Given the description of an element on the screen output the (x, y) to click on. 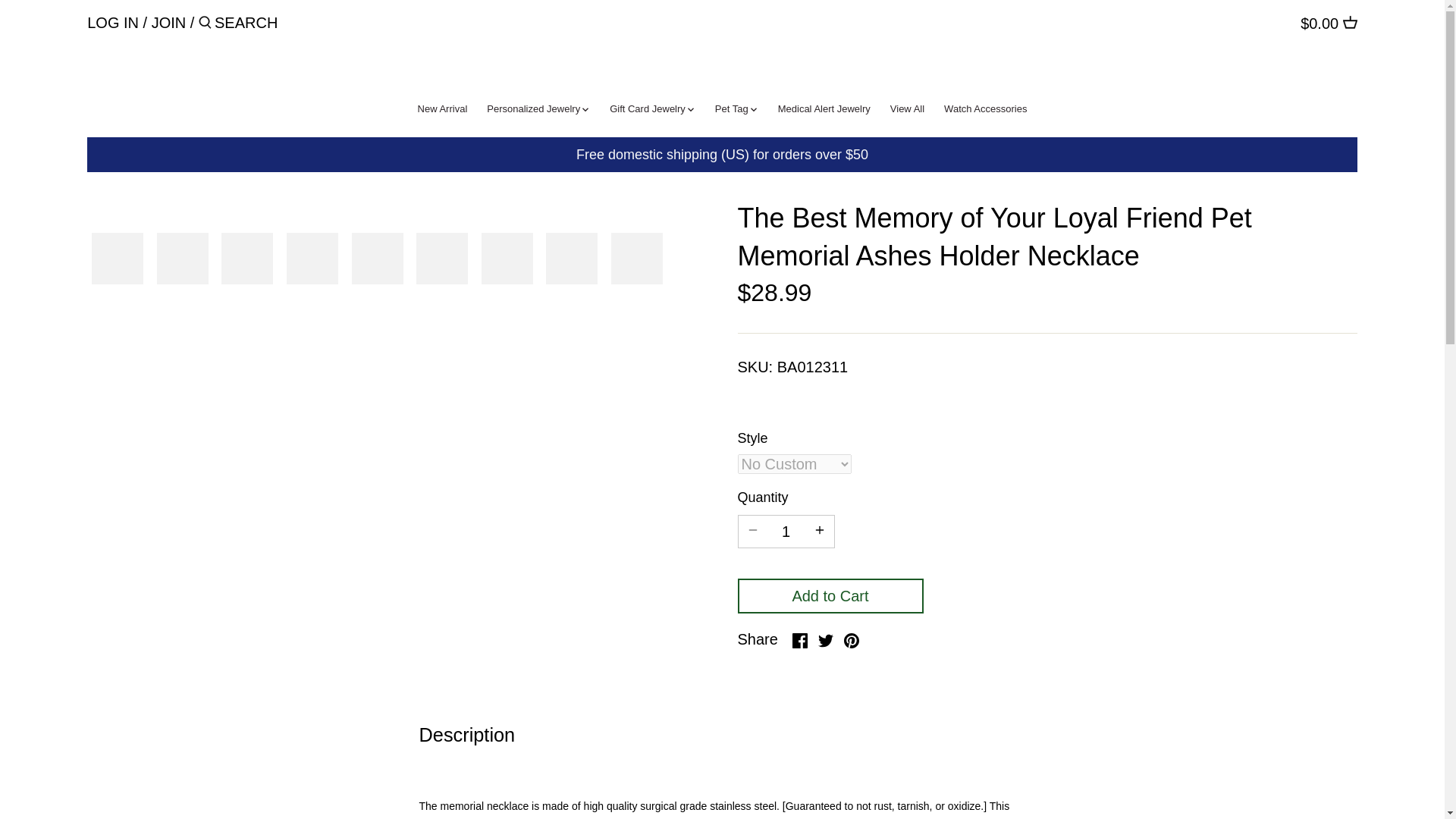
Pinterest (851, 640)
Facebook (800, 640)
LOG IN (112, 22)
1 (786, 531)
Gift Card Jewelry (647, 110)
Personalized Jewelry (533, 110)
New Arrival (442, 110)
Twitter (825, 640)
JOIN (168, 22)
